Given the description of an element on the screen output the (x, y) to click on. 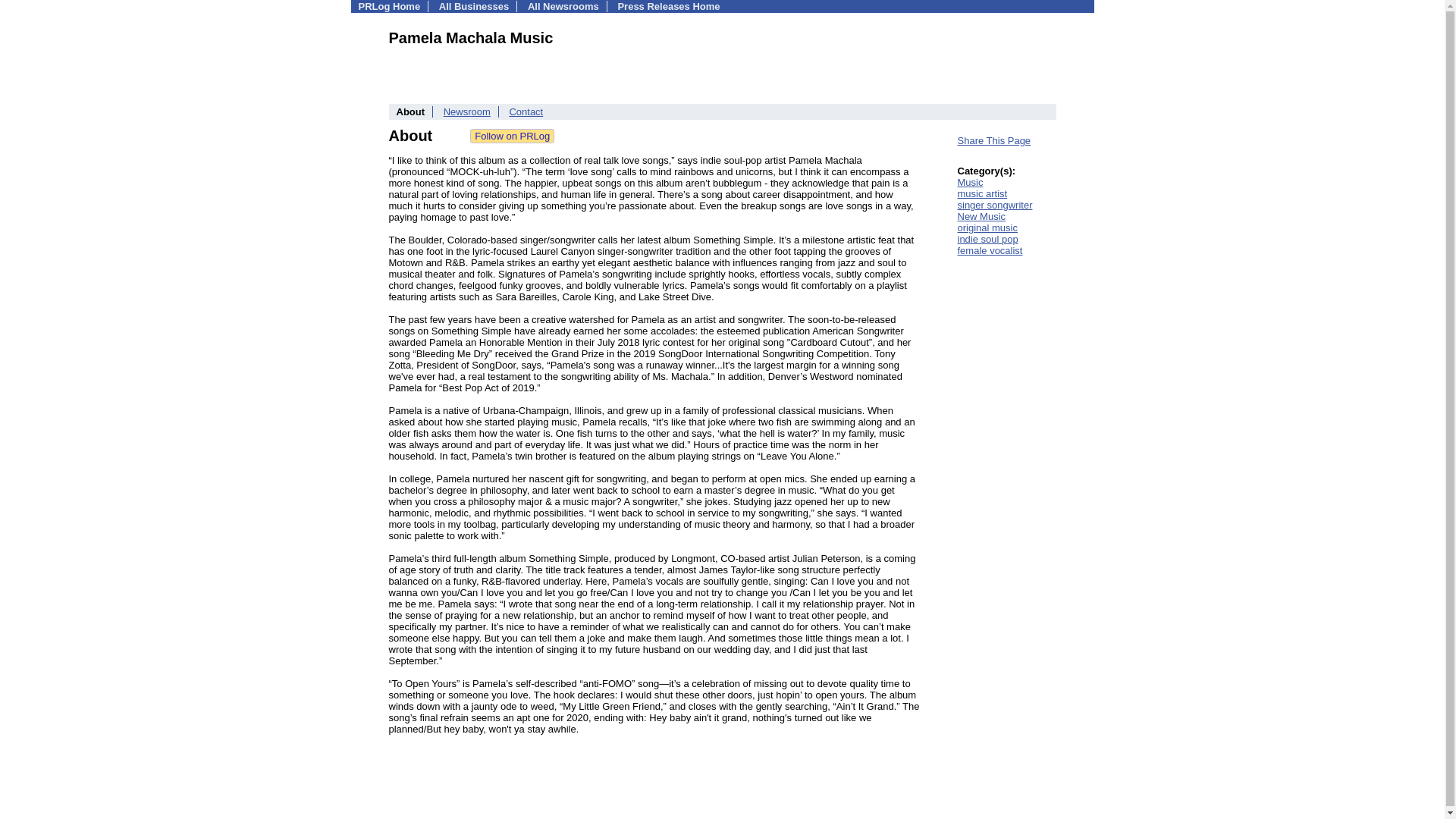
All Newsrooms (562, 6)
PRLog Home (389, 6)
Newsroom (467, 111)
New Music (981, 215)
Contact (525, 111)
indie soul pop (986, 238)
Bookmark this page on various sharing sites! (993, 140)
Share This Page (993, 140)
All Businesses (474, 6)
Music (969, 182)
